Given the description of an element on the screen output the (x, y) to click on. 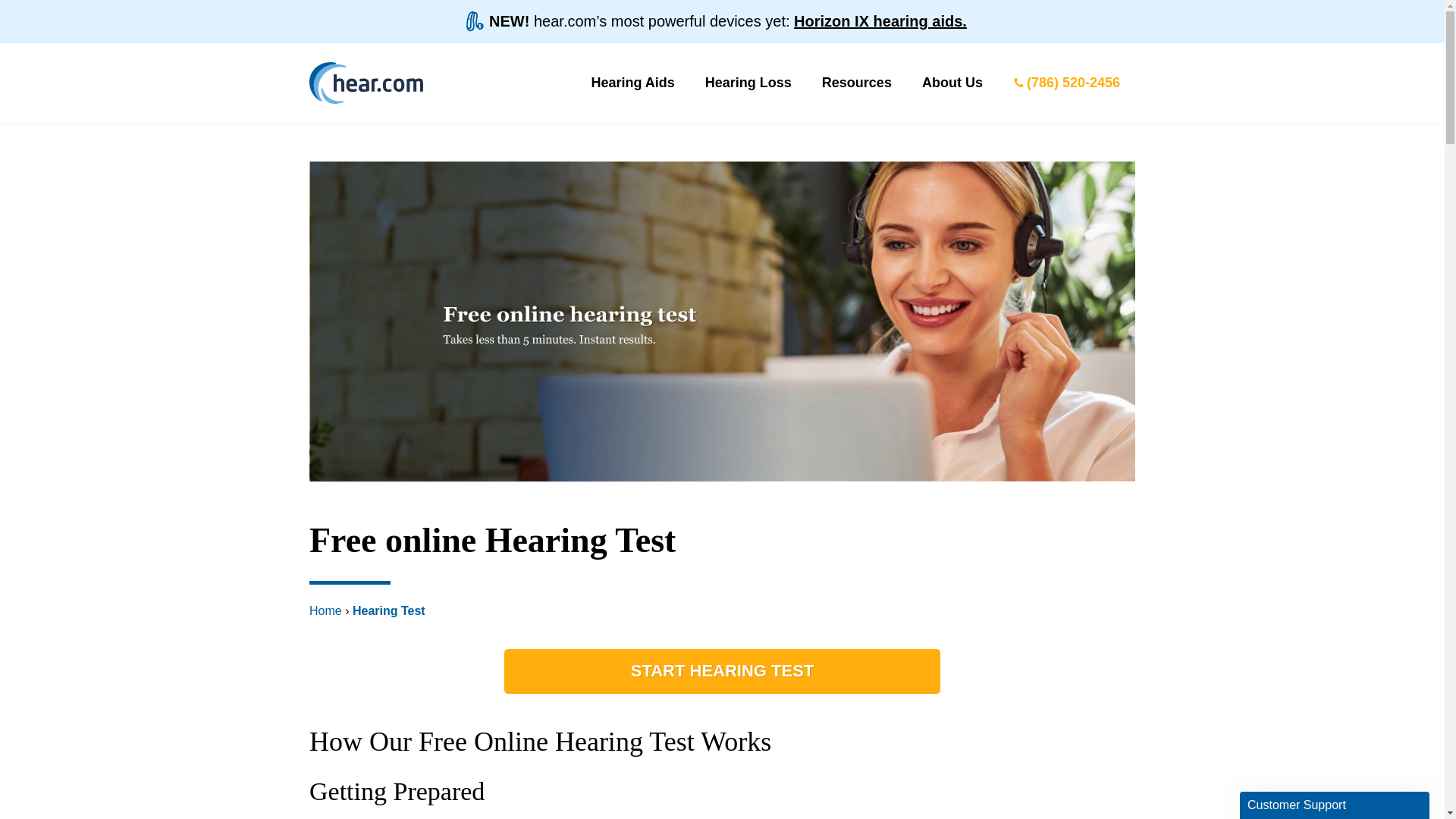
Resources (856, 82)
Horizon IX hearing aids. (879, 21)
About Us (952, 82)
Hearing Loss (748, 82)
Hearing Aids (631, 82)
